Given the description of an element on the screen output the (x, y) to click on. 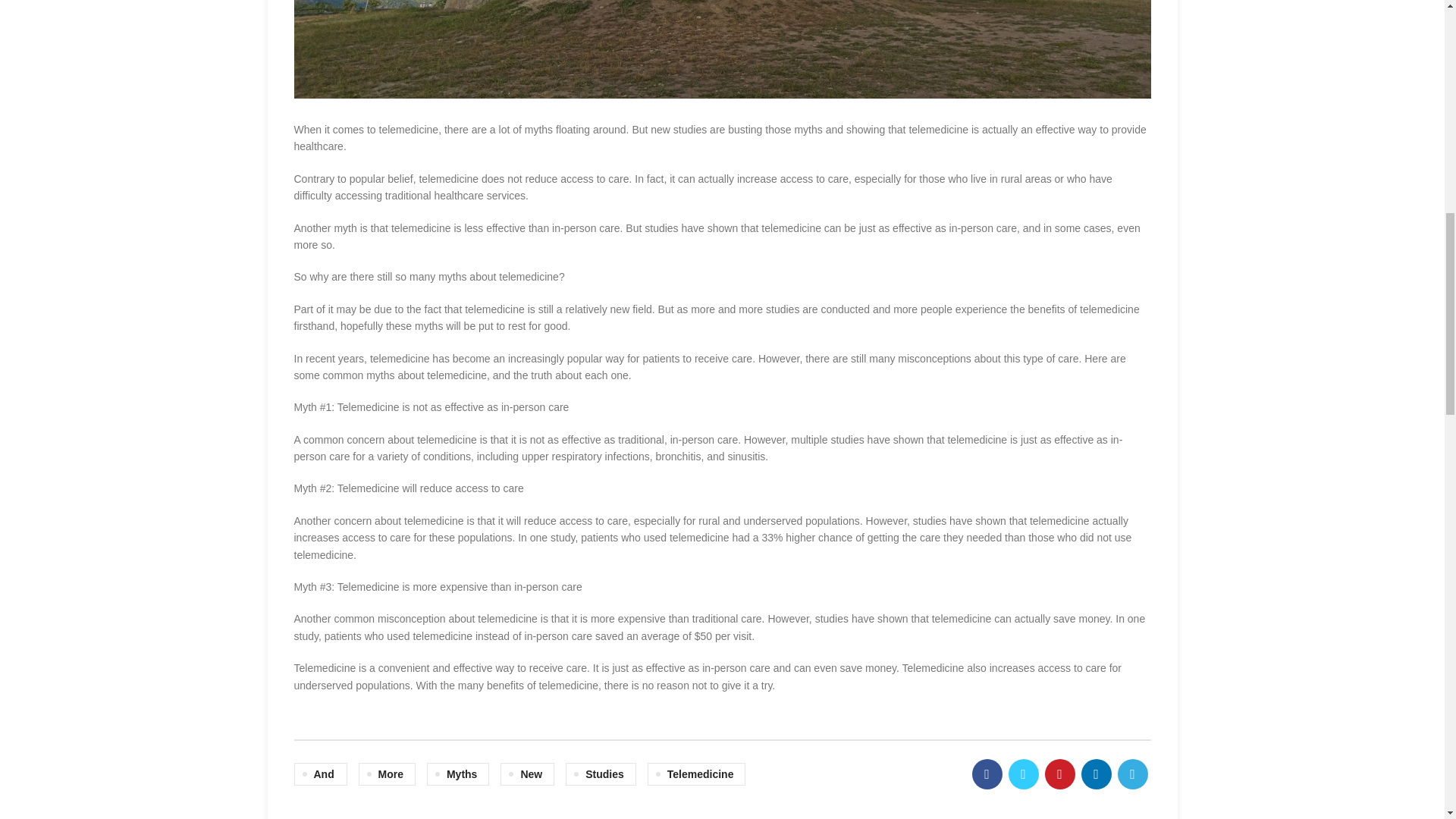
New (527, 773)
More (386, 773)
Myths (457, 773)
Studies (601, 773)
And (320, 773)
